Given the description of an element on the screen output the (x, y) to click on. 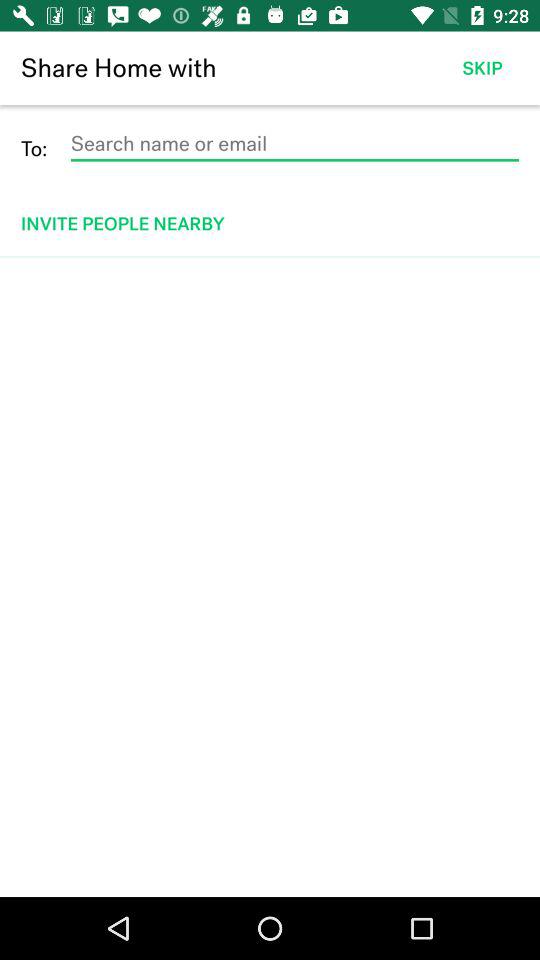
tap the invite people nearby (272, 223)
